Given the description of an element on the screen output the (x, y) to click on. 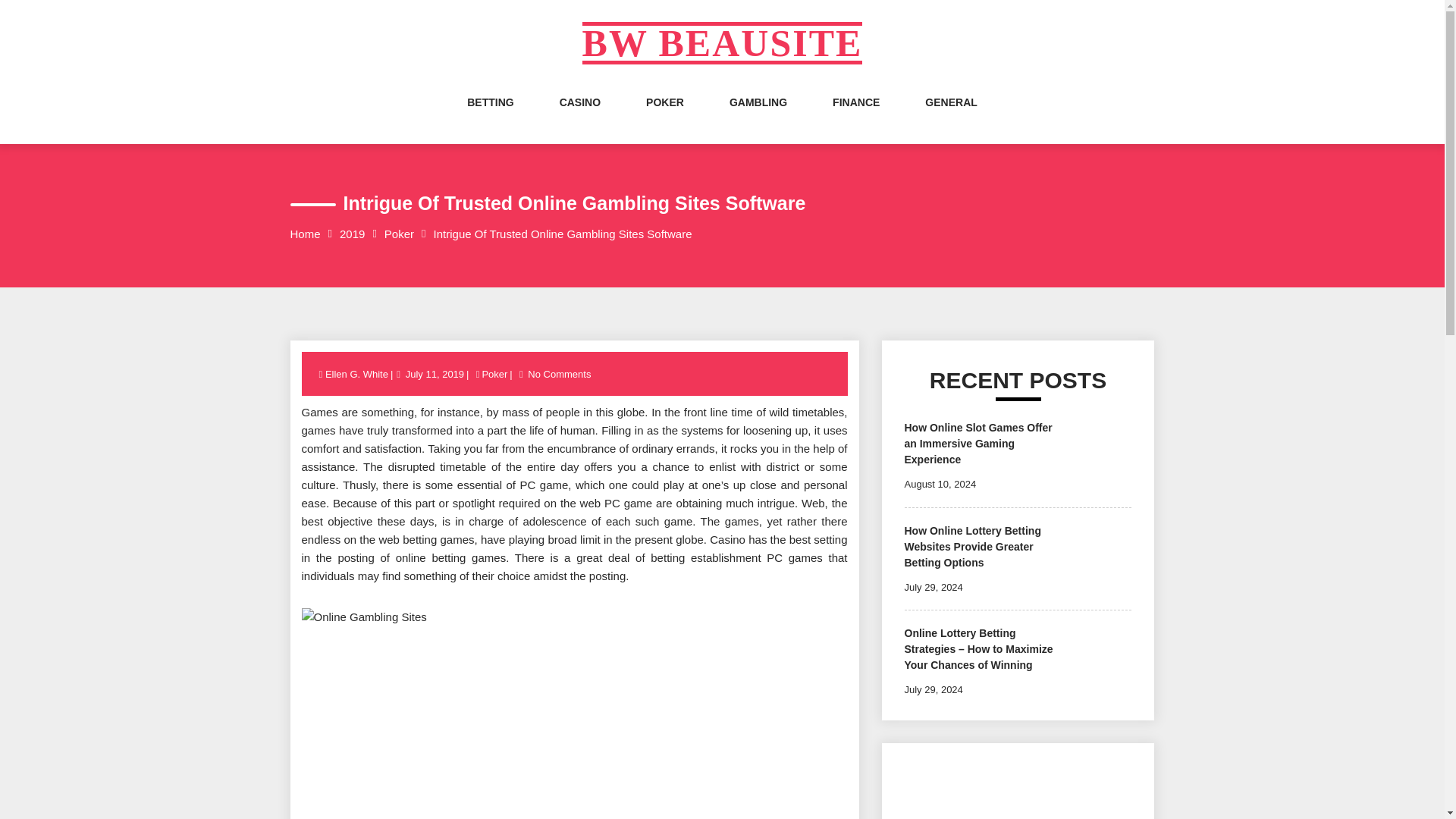
Poker (494, 374)
BW BEAUSITE (722, 43)
2019 (352, 233)
July 11, 2019 (434, 374)
How Online Slot Games Offer an Immersive Gaming Experience (977, 443)
CASINO (579, 117)
No Comments (558, 374)
Ellen G. White (357, 374)
GAMBLING (758, 117)
